Given the description of an element on the screen output the (x, y) to click on. 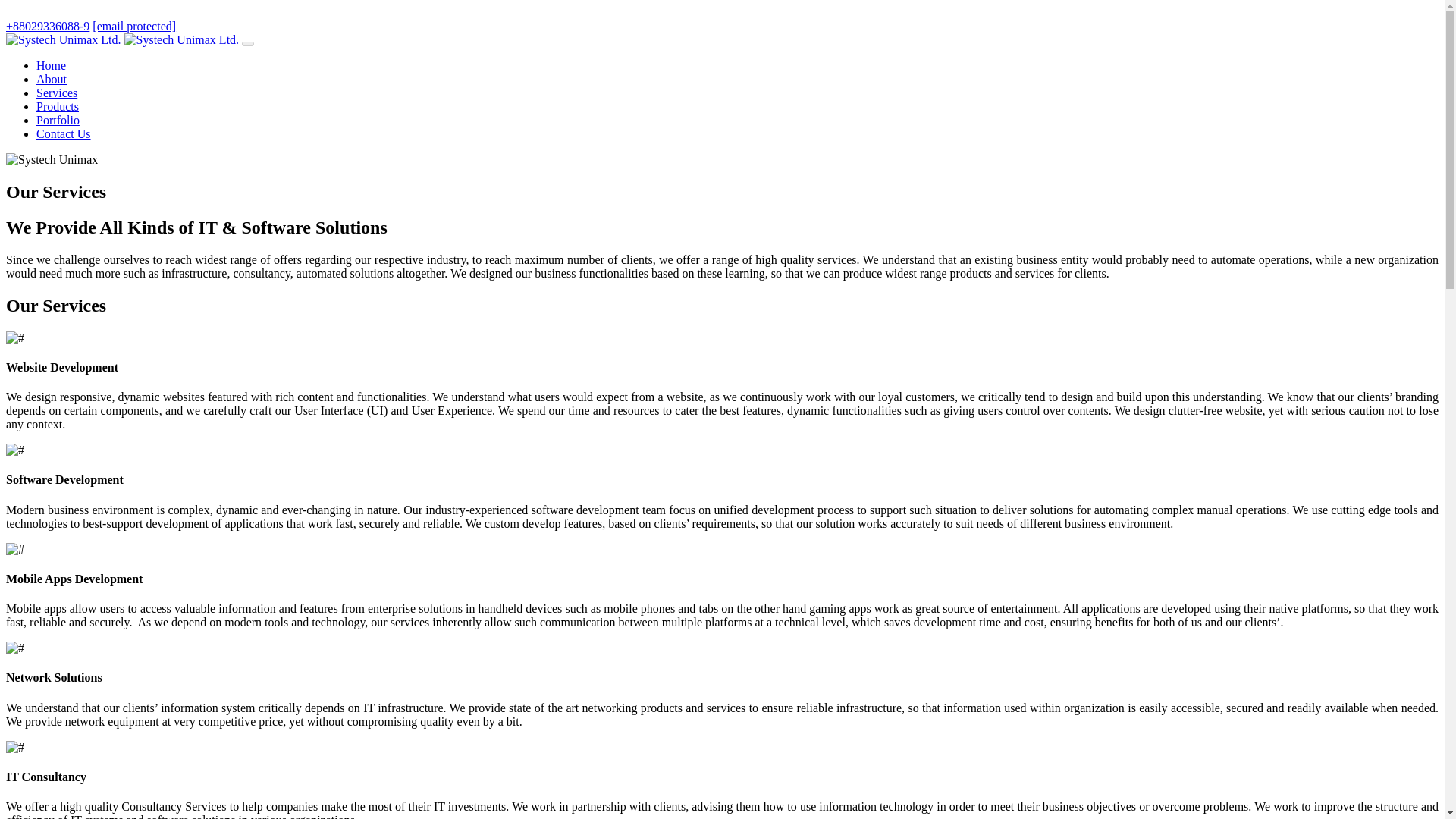
About (51, 78)
Home (50, 65)
Products (57, 106)
Contact Us (63, 133)
Portfolio (58, 119)
Services (56, 92)
